Given the description of an element on the screen output the (x, y) to click on. 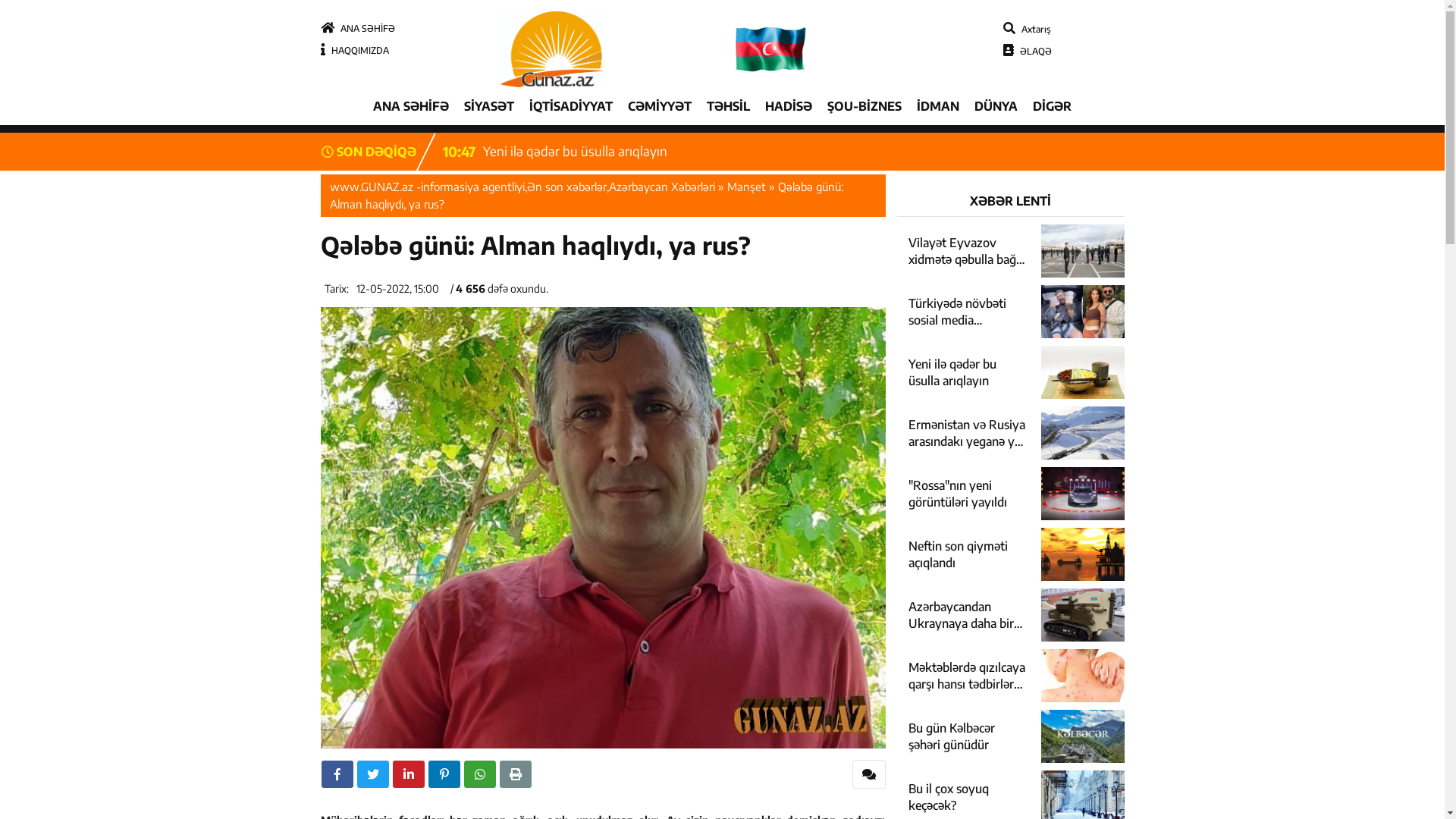
GunAz.Az Element type: hover (551, 49)
GunAz.Az Element type: hover (773, 49)
HAQQIMIZDA Element type: text (354, 50)
linkedin Element type: hover (407, 773)
pinterest Element type: hover (444, 773)
twitter Element type: hover (372, 773)
GunAz.Az Element type: hover (722, 47)
facebook Element type: hover (336, 773)
